Given the description of an element on the screen output the (x, y) to click on. 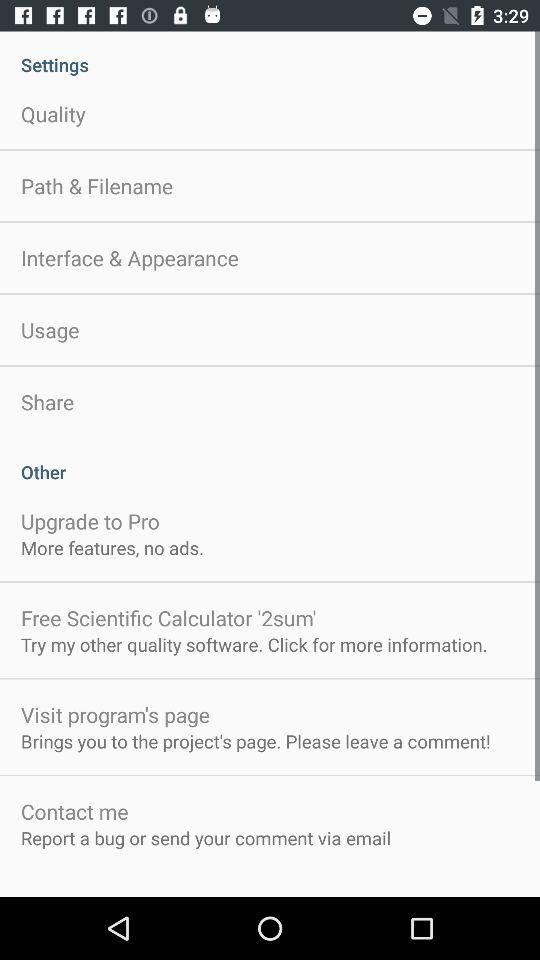
tap the app below brings you to icon (74, 811)
